Given the description of an element on the screen output the (x, y) to click on. 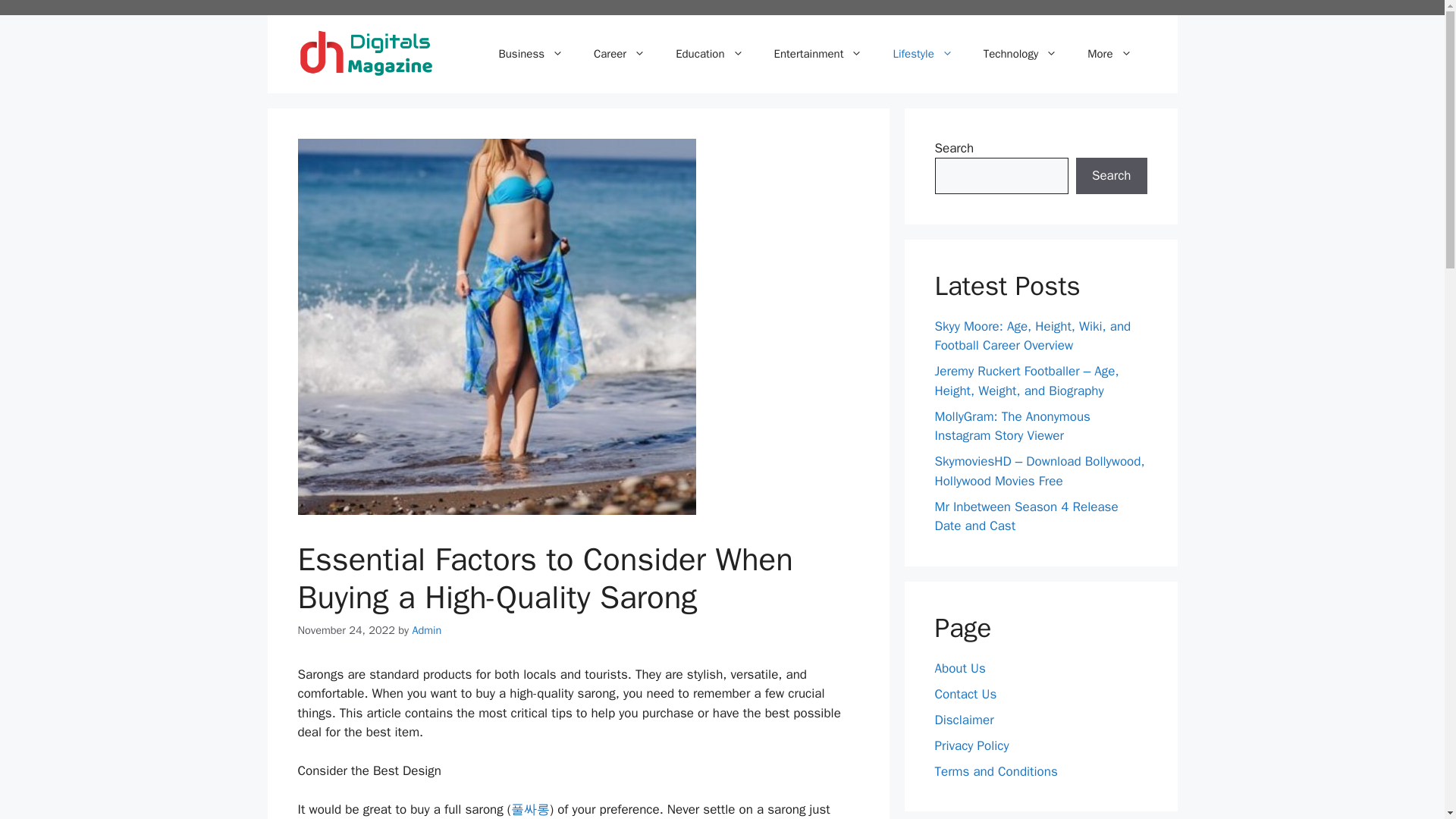
Education (709, 53)
Lifestyle (922, 53)
More (1109, 53)
Admin (426, 630)
Entertainment (817, 53)
Business (530, 53)
Career (619, 53)
Technology (1020, 53)
View all posts by Admin (426, 630)
